Given the description of an element on the screen output the (x, y) to click on. 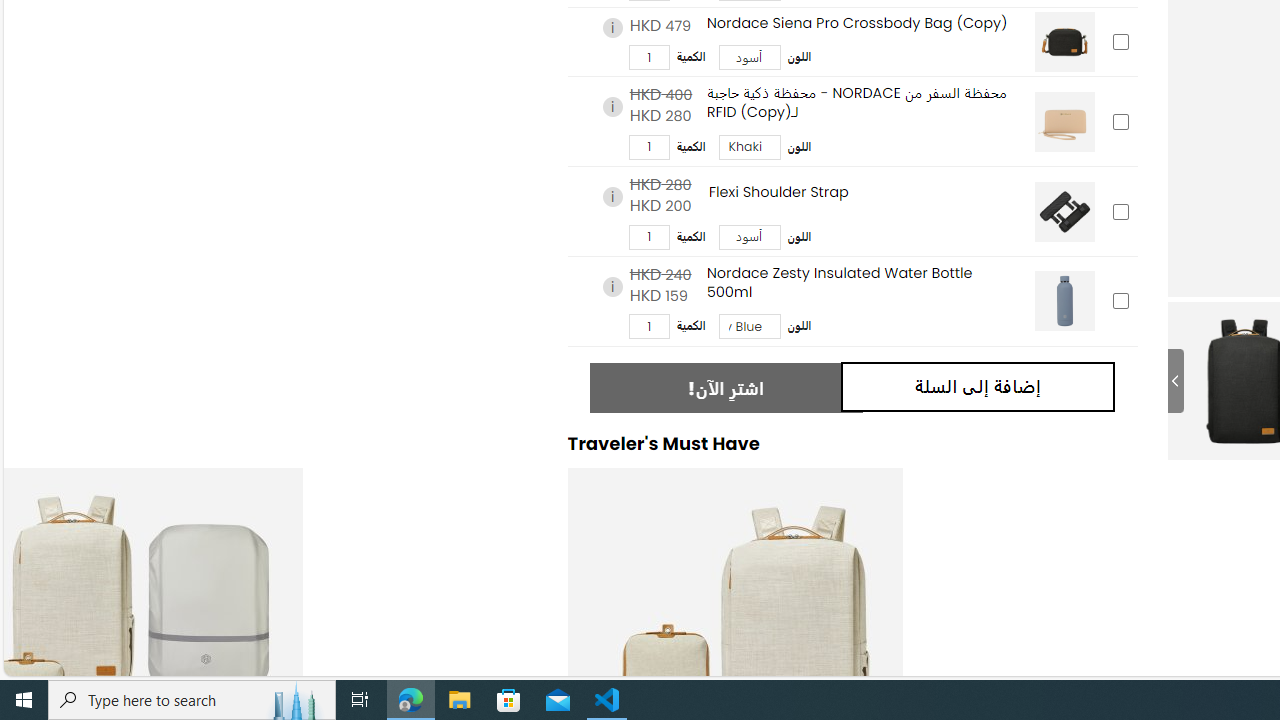
i (612, 285)
Nordace Siena Pro Crossbody Bag (Copy) (1064, 42)
Nordace Zesty Insulated Water Bottle 500ml (1064, 300)
Add this product to cart (1120, 301)
Class: upsell-v2-product-upsell-variable-product-qty-select (648, 326)
